Given the description of an element on the screen output the (x, y) to click on. 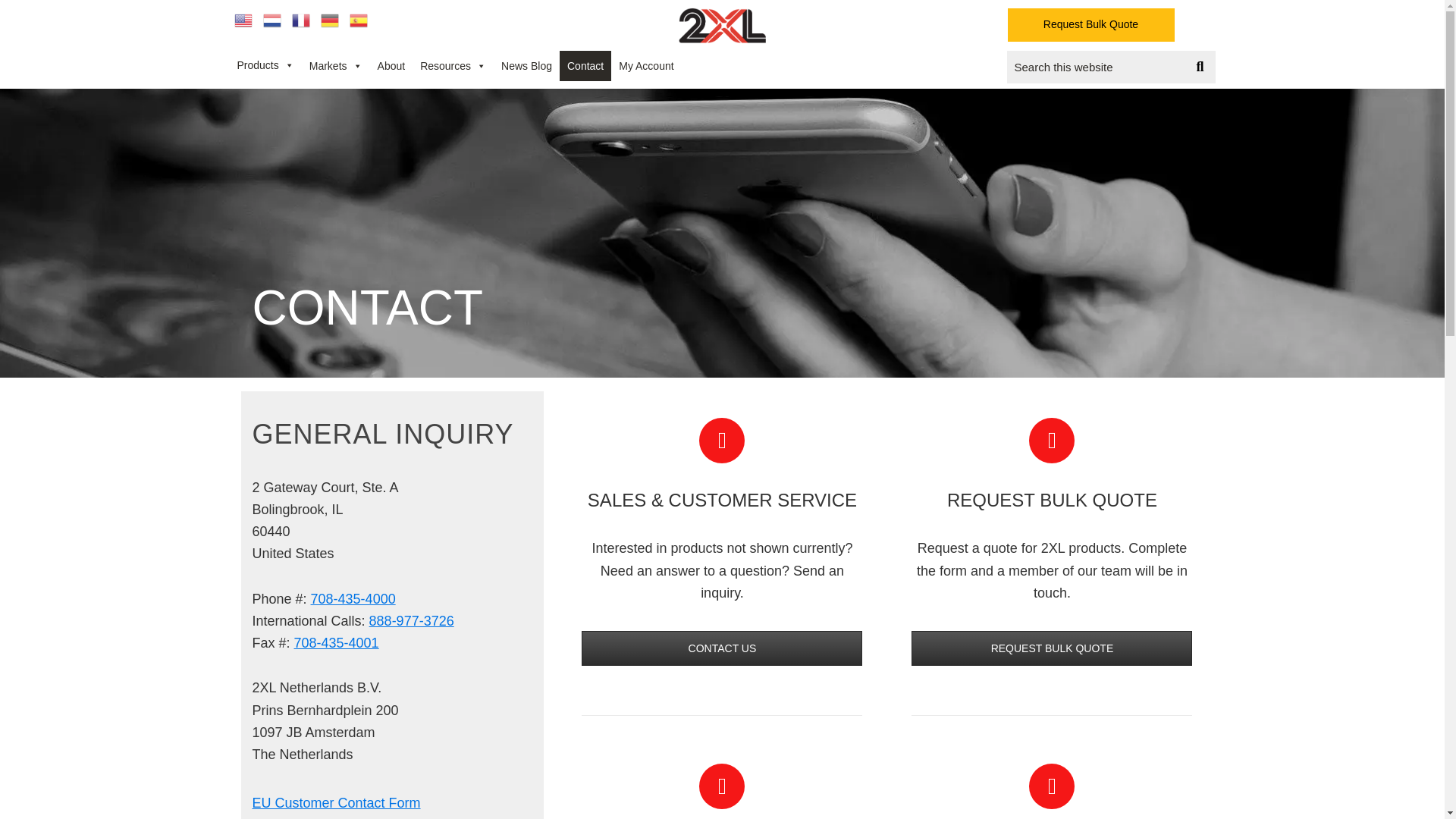
German (329, 19)
English (242, 19)
Products (264, 65)
Spanish (358, 19)
Dutch (272, 19)
French (301, 19)
